Given the description of an element on the screen output the (x, y) to click on. 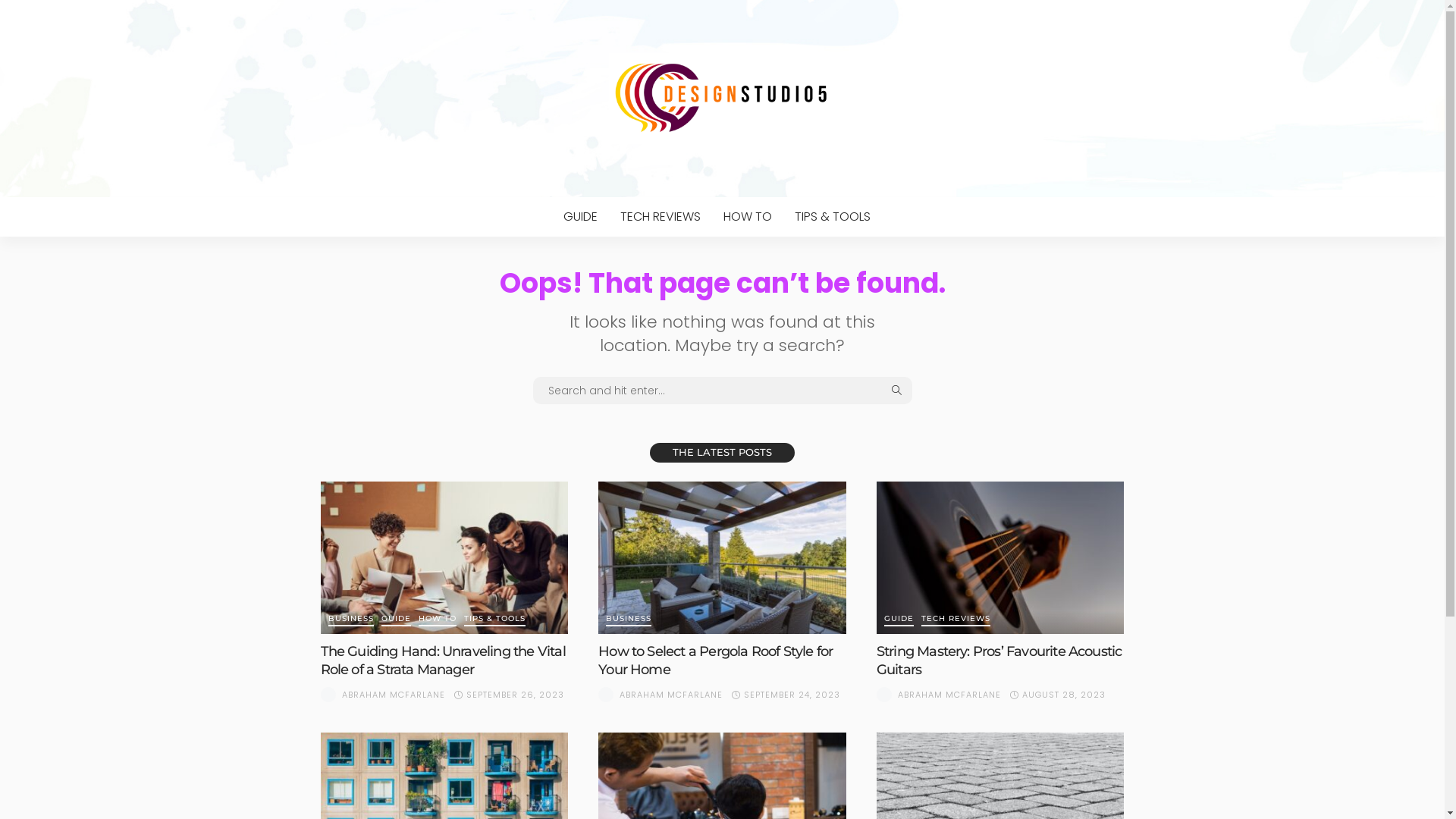
ABRAHAM MCFARLANE Element type: text (670, 694)
BUSINESS Element type: text (350, 620)
ABRAHAM MCFARLANE Element type: text (392, 694)
HOW TO Element type: text (437, 620)
How to Select a Pergola Roof Style for Your Home Element type: hover (722, 557)
TECH REVIEWS Element type: text (659, 216)
HOW TO Element type: text (746, 216)
Web Development and consultation Agency Element type: hover (721, 98)
TIPS & TOOLS Element type: text (494, 620)
BUSINESS Element type: text (628, 620)
search for: Element type: hover (721, 390)
How to Select a Pergola Roof Style for Your Home Element type: text (715, 660)
ABRAHAM MCFARLANE Element type: text (949, 694)
GUIDE Element type: text (580, 216)
TIPS & TOOLS Element type: text (831, 216)
GUIDE Element type: text (395, 620)
TECH REVIEWS Element type: text (955, 620)
GUIDE Element type: text (898, 620)
